Given the description of an element on the screen output the (x, y) to click on. 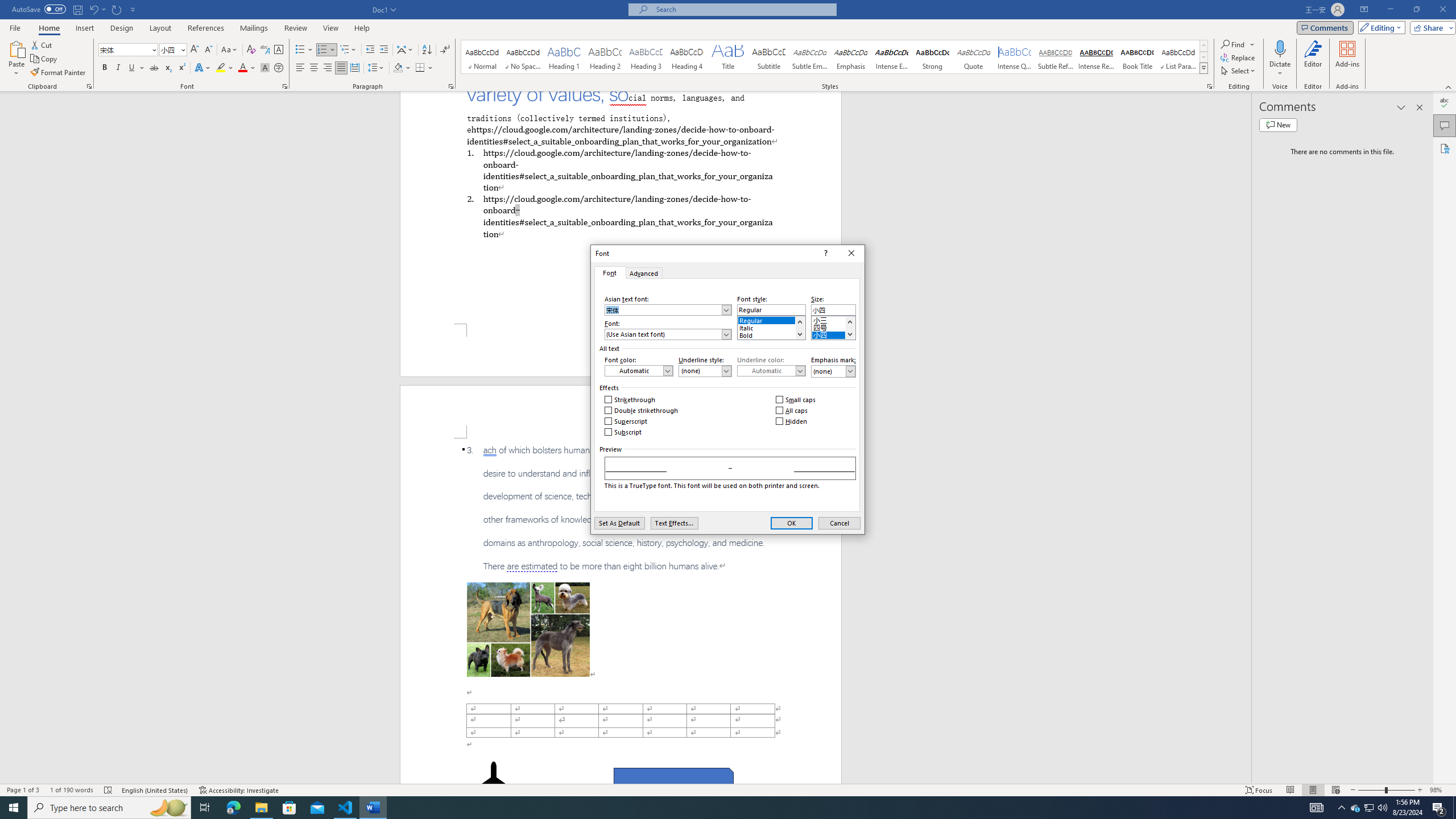
Phonetic Guide... (264, 49)
Cut (42, 44)
AutomationID: 1795 (799, 327)
AutoSave (38, 9)
Close (851, 253)
Text Effects and Typography (202, 67)
Superscript (180, 67)
Rectangle: Diagonal Corners Snipped 2 (672, 781)
Strikethrough (630, 399)
Line up (849, 321)
Text Highlight Color (224, 67)
Dictate (1280, 48)
Review (295, 28)
